Given the description of an element on the screen output the (x, y) to click on. 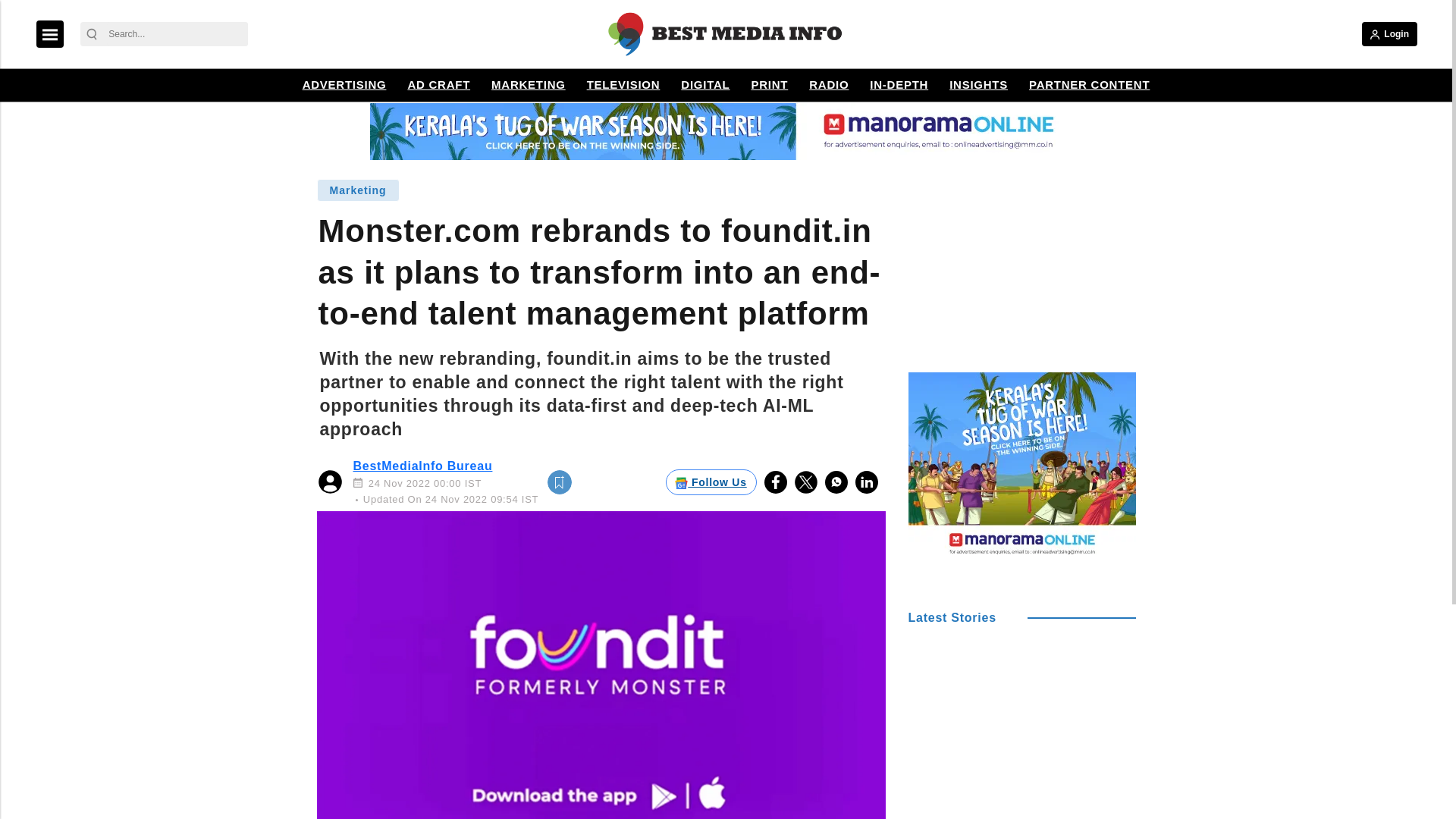
Follow Us (711, 482)
Login (1388, 33)
DIGITAL (705, 84)
Marketing (357, 190)
PRINT (769, 84)
IN-DEPTH (898, 84)
ADVERTISING (344, 84)
PARTNER CONTENT (1088, 84)
TELEVISION (622, 84)
3rd party ad content (1021, 269)
